Given the description of an element on the screen output the (x, y) to click on. 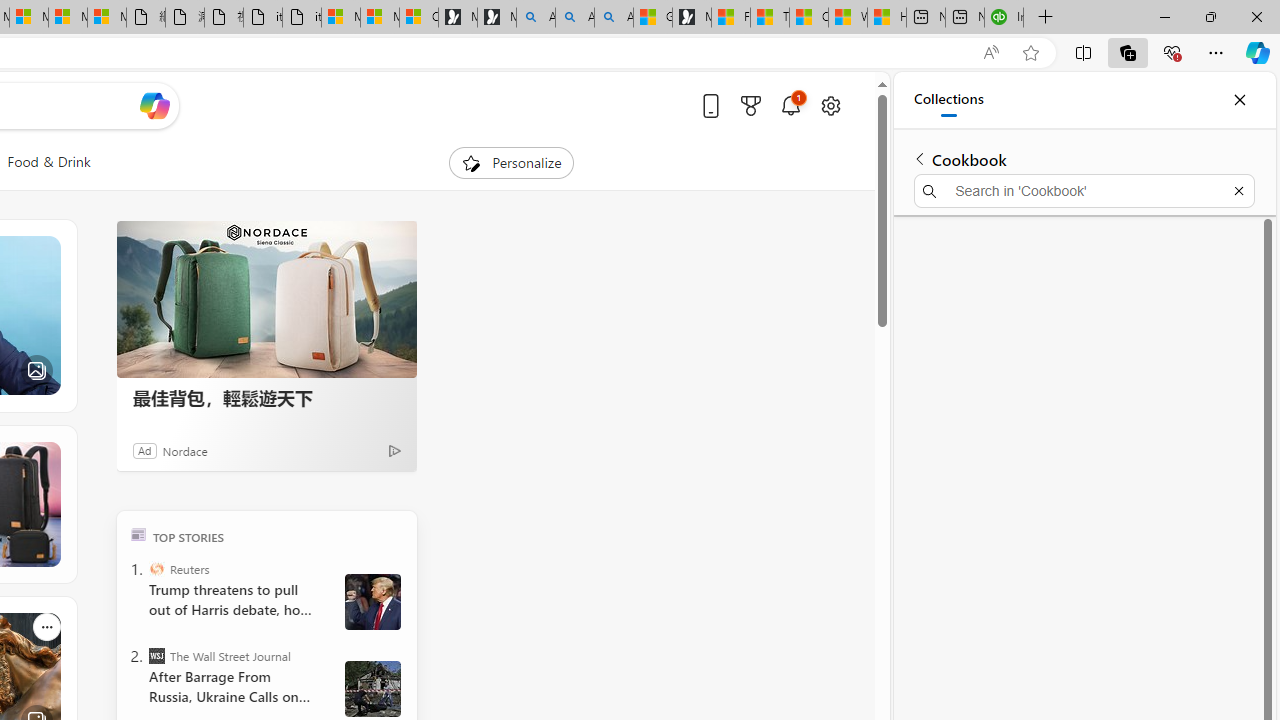
Exit search (1238, 190)
Copilot (Ctrl+Shift+.) (1258, 52)
itconcepthk.com/projector_solutions.mp4 (301, 17)
How to Use a TV as a Computer Monitor (886, 17)
The Wall Street Journal (156, 655)
New Tab (1045, 17)
Add this page to favorites (Ctrl+D) (1030, 53)
Notifications (790, 105)
Consumer Health Data Privacy Policy (418, 17)
